Given the description of an element on the screen output the (x, y) to click on. 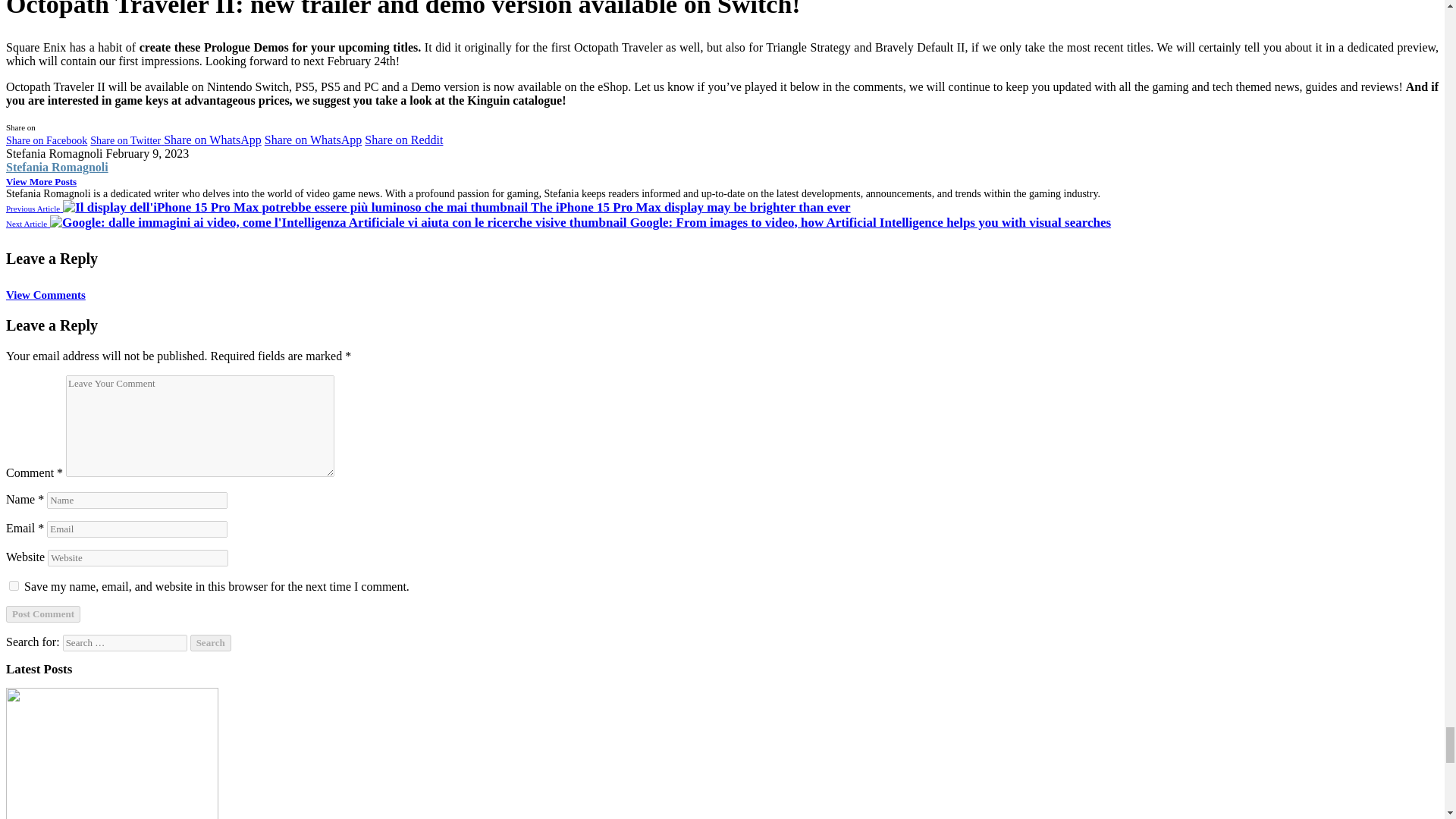
yes (13, 585)
Post Comment (42, 614)
Search (210, 642)
Search (210, 642)
